Given the description of an element on the screen output the (x, y) to click on. 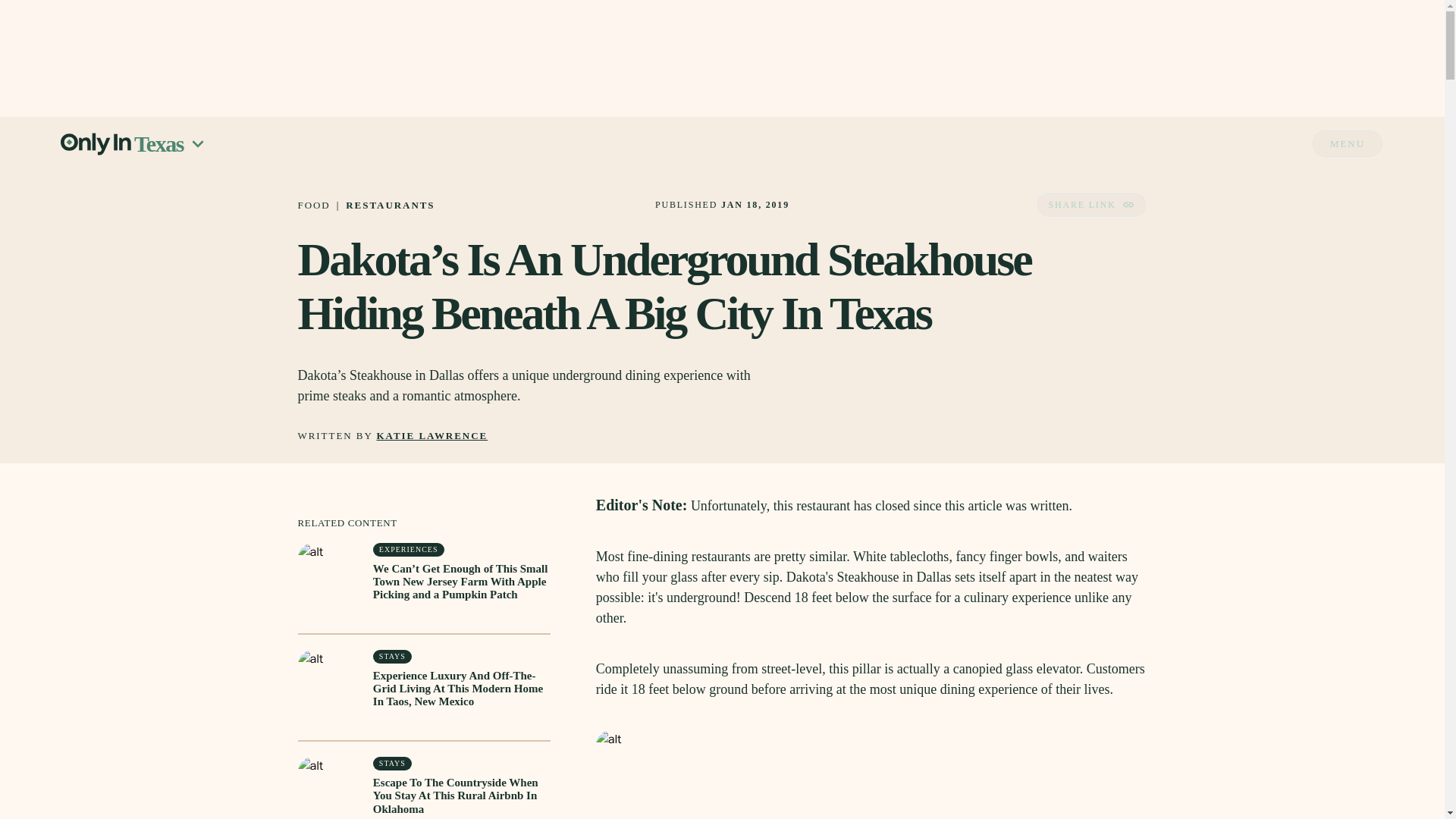
KATIE LAWRENCE (432, 436)
RESTAURANTS (389, 204)
FOOD (313, 204)
SHARE LINK (1091, 204)
MENU (1347, 143)
